Given the description of an element on the screen output the (x, y) to click on. 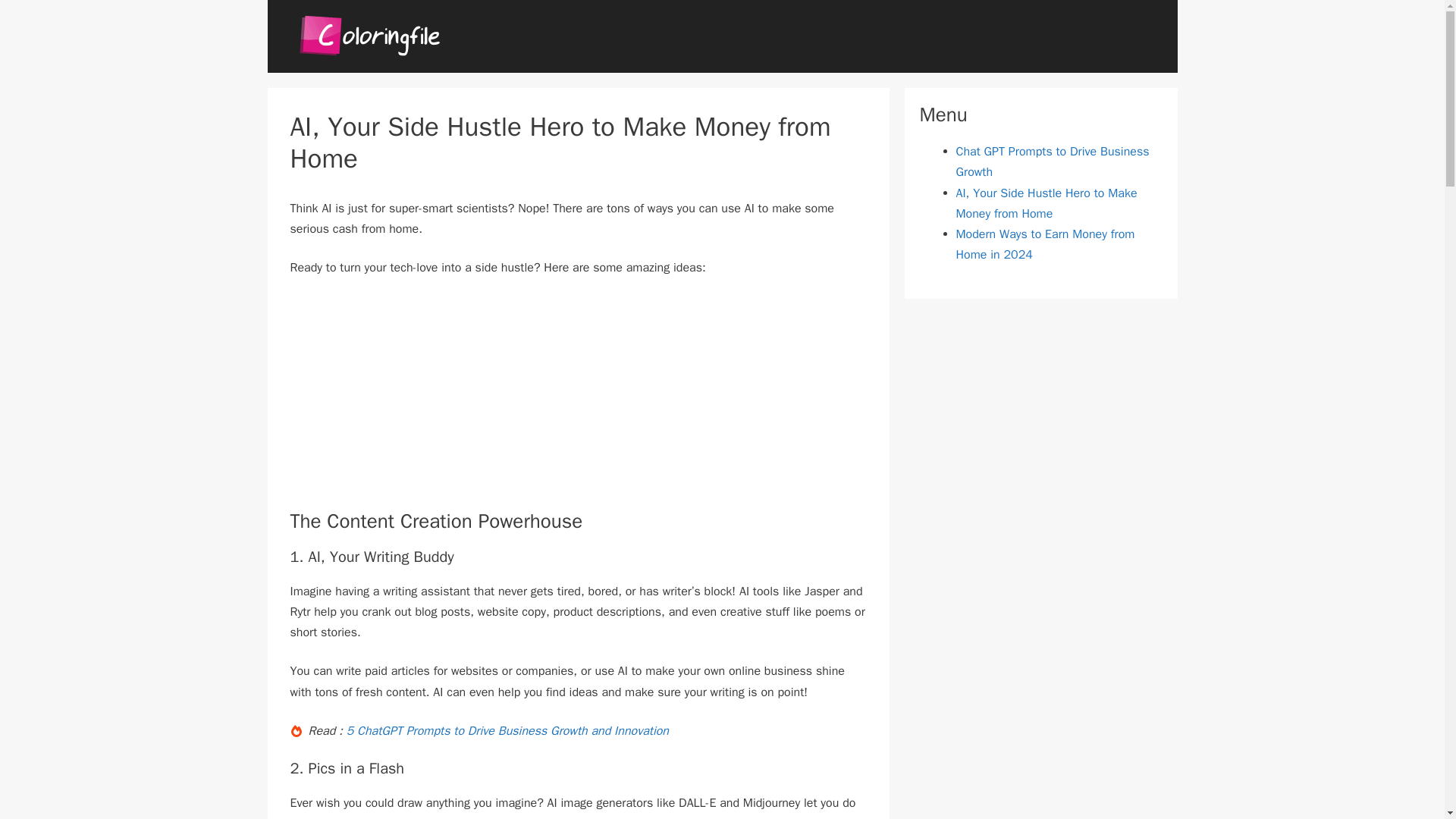
Modern Ways to Earn Money from Home in 2024 (1044, 244)
AI, Your Side Hustle Hero to Make Money from Home (1046, 203)
Chat GPT Prompts to Drive Business Growth (1051, 161)
5 ChatGPT Prompts to Drive Business Growth and Innovation (507, 730)
Advertisement (577, 403)
